Given the description of an element on the screen output the (x, y) to click on. 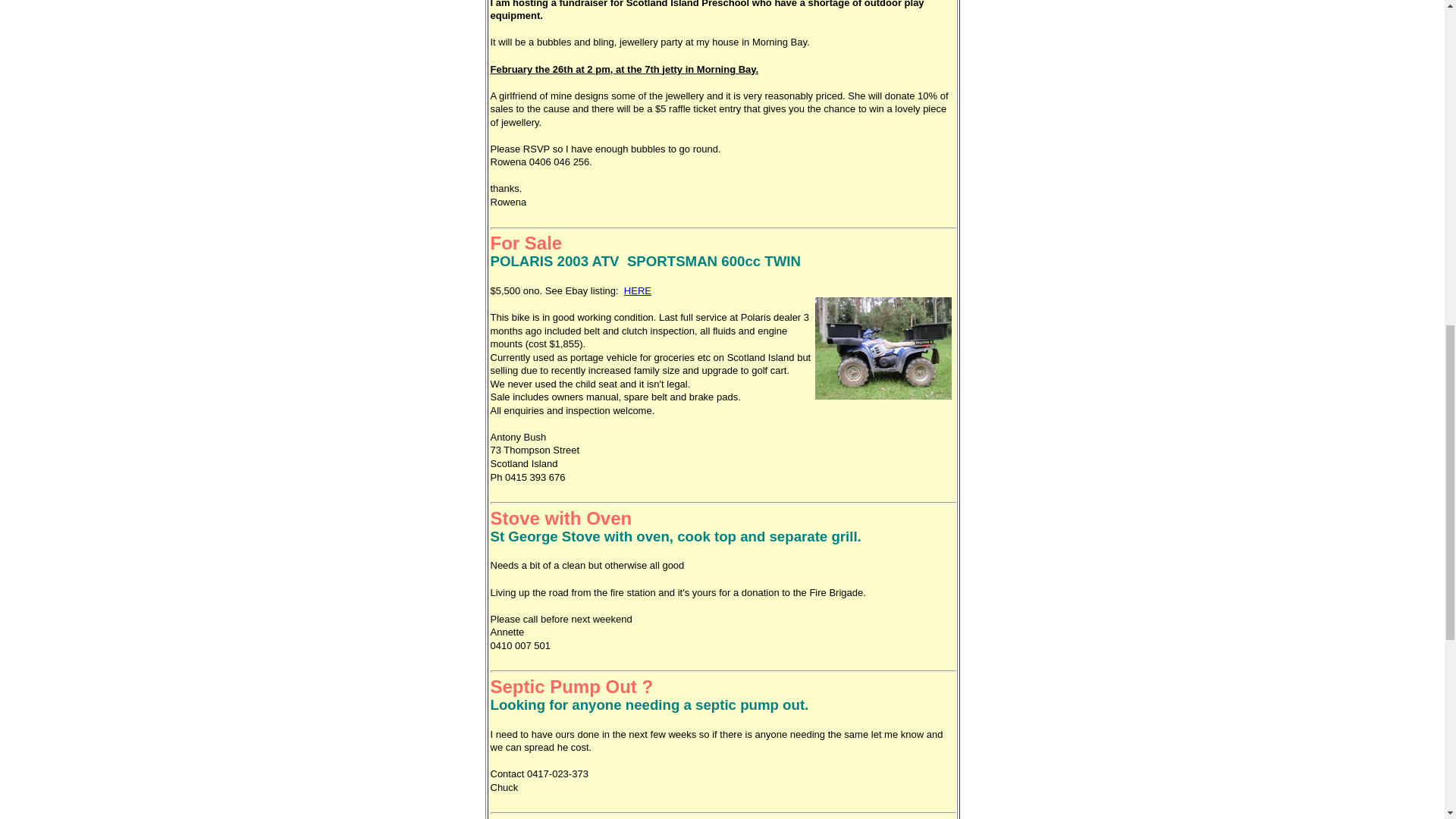
HERE (637, 290)
